Given the description of an element on the screen output the (x, y) to click on. 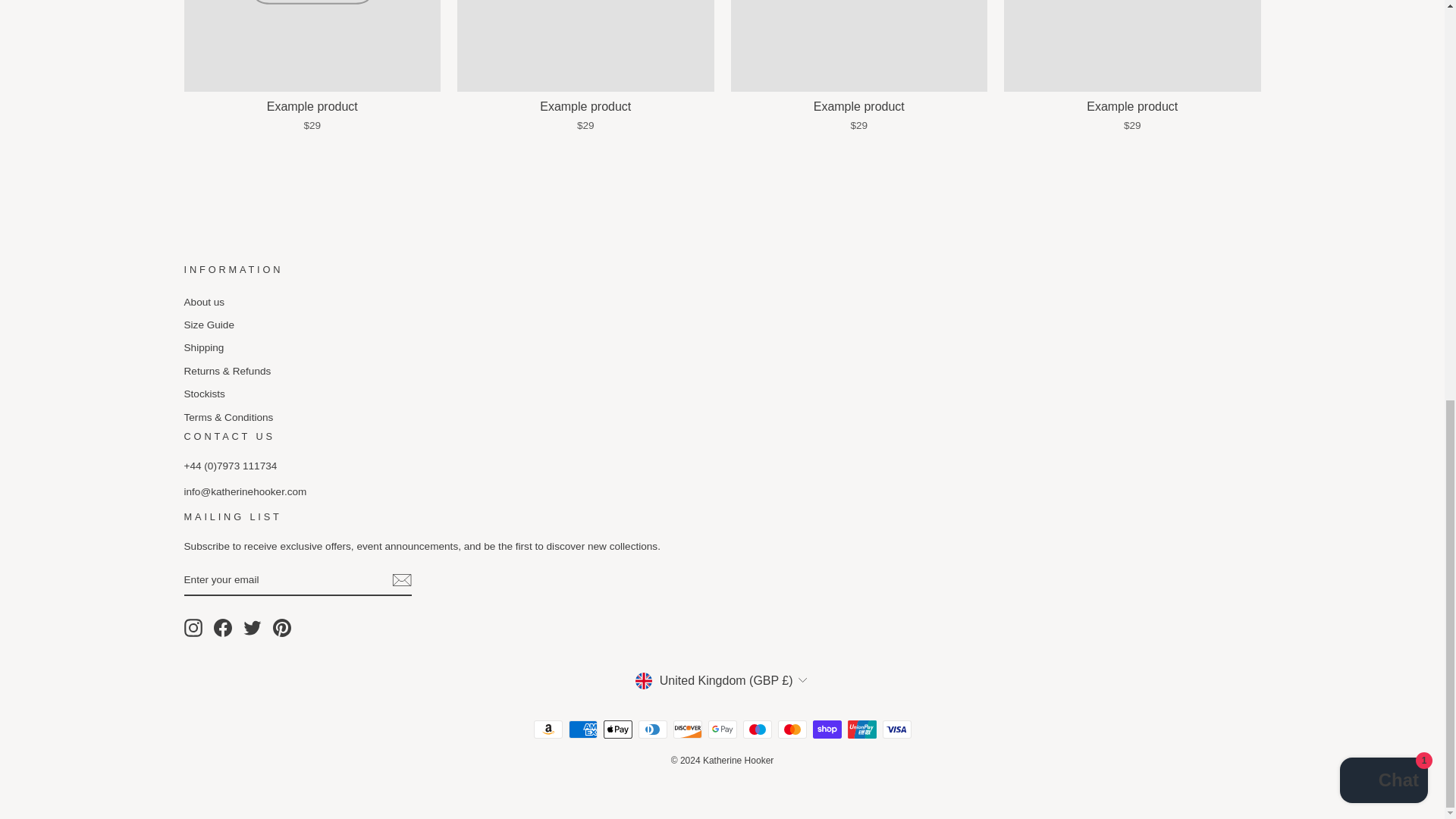
Katherine Hooker on Pinterest (282, 628)
Discover (686, 729)
Shopify online store chat (1383, 12)
American Express (582, 729)
Apple Pay (617, 729)
Amazon (548, 729)
Katherine Hooker on Instagram (192, 628)
Katherine Hooker on Twitter (251, 628)
Google Pay (721, 729)
Katherine Hooker on Facebook (222, 628)
Diners Club (652, 729)
